Given the description of an element on the screen output the (x, y) to click on. 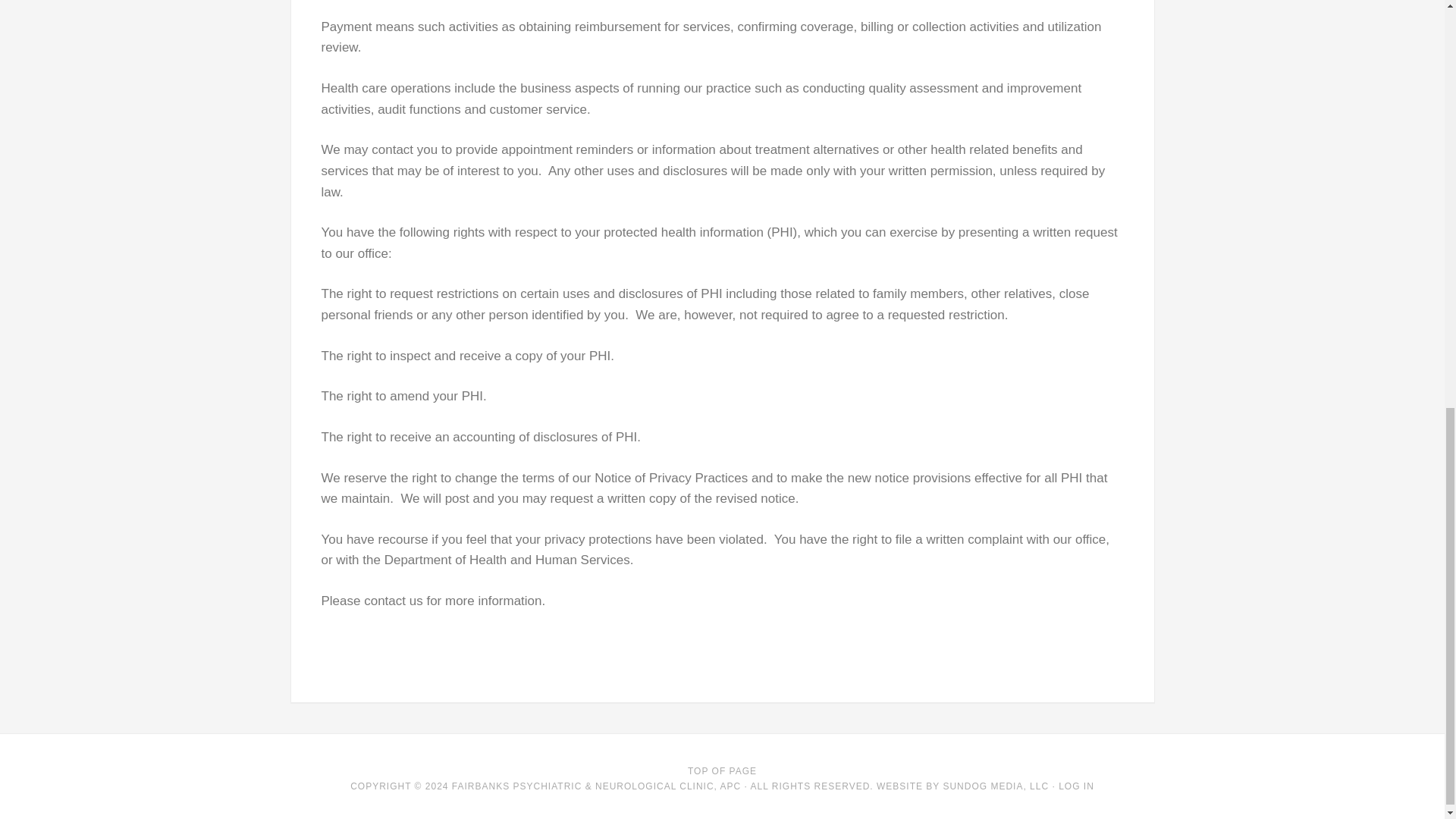
LOG IN (1076, 786)
SUNDOG MEDIA, LLC (995, 786)
TOP OF PAGE (722, 770)
TOP OF PAGE (722, 770)
